Given the description of an element on the screen output the (x, y) to click on. 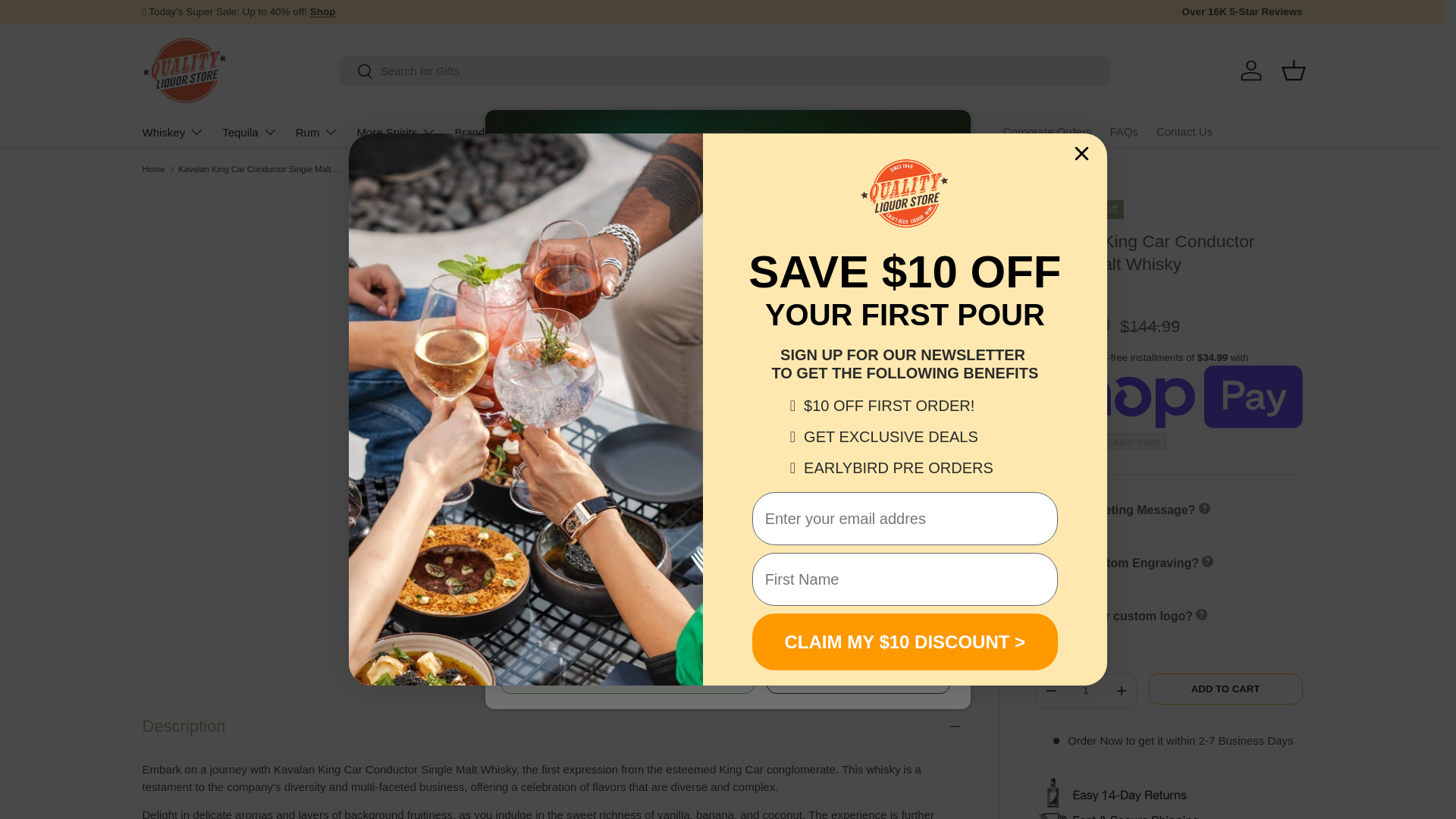
Whiskey (173, 132)
1 (1085, 690)
Shop (323, 11)
Tequila (250, 132)
Rum (317, 132)
Basket (1293, 70)
Over 16K 5-Star Reviews (1240, 11)
SALE (323, 11)
Log in (1251, 70)
More Spirits (395, 132)
Search (356, 72)
SKIP TO CONTENT (68, 21)
